Given the description of an element on the screen output the (x, y) to click on. 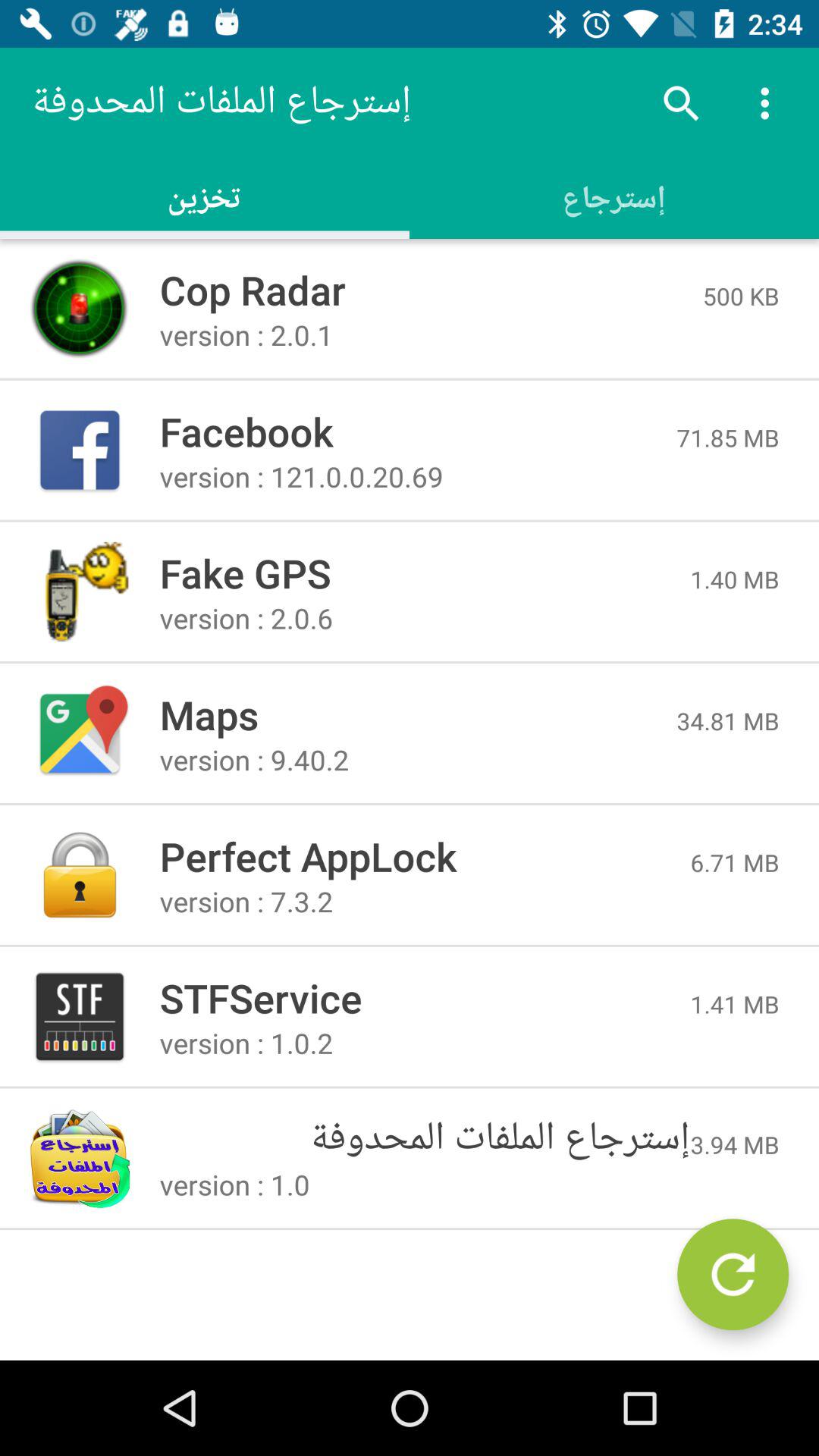
select icon next to the 71.85 mb (417, 430)
